Given the description of an element on the screen output the (x, y) to click on. 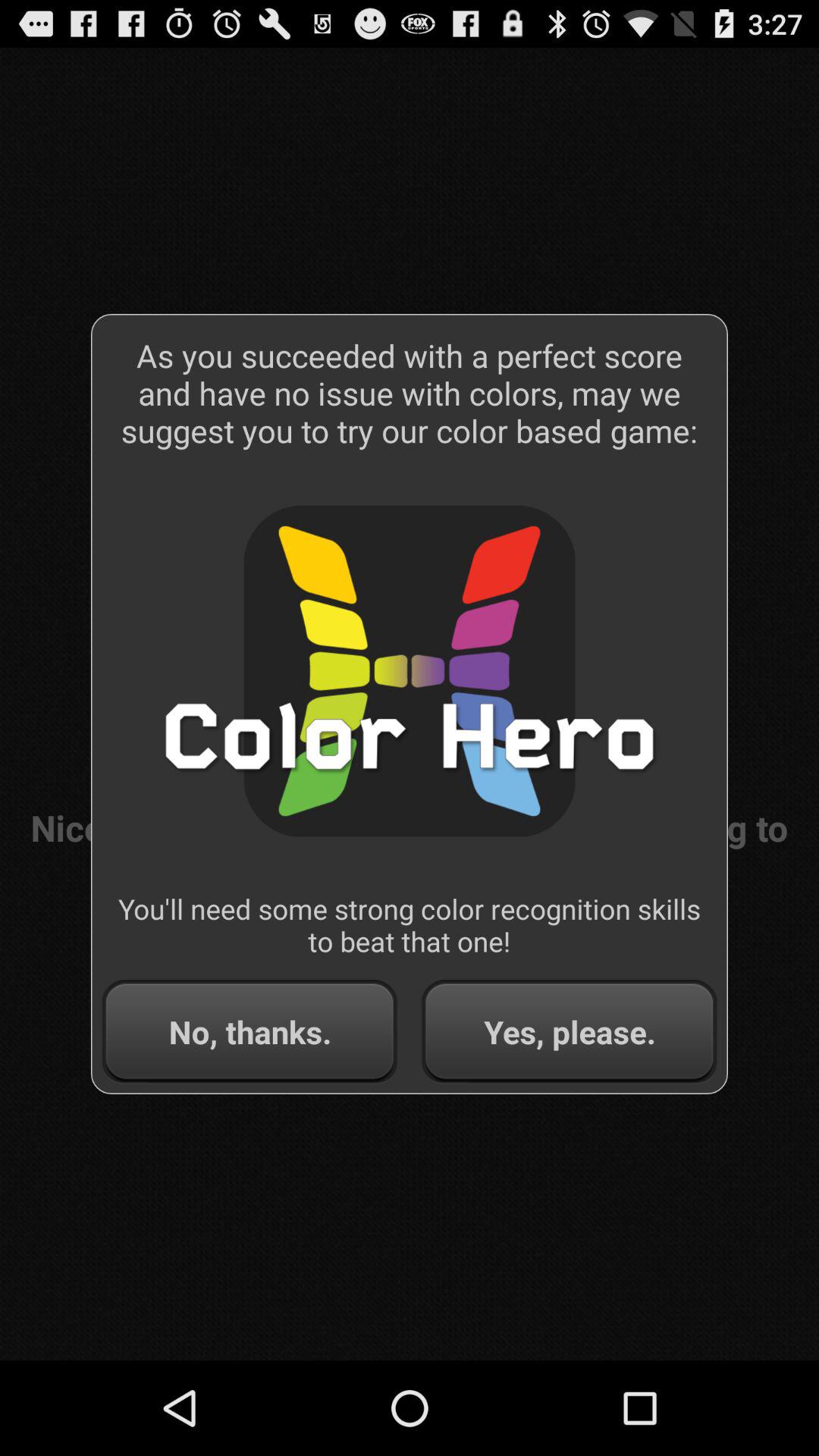
tap item next to the no, thanks. button (568, 1031)
